Given the description of an element on the screen output the (x, y) to click on. 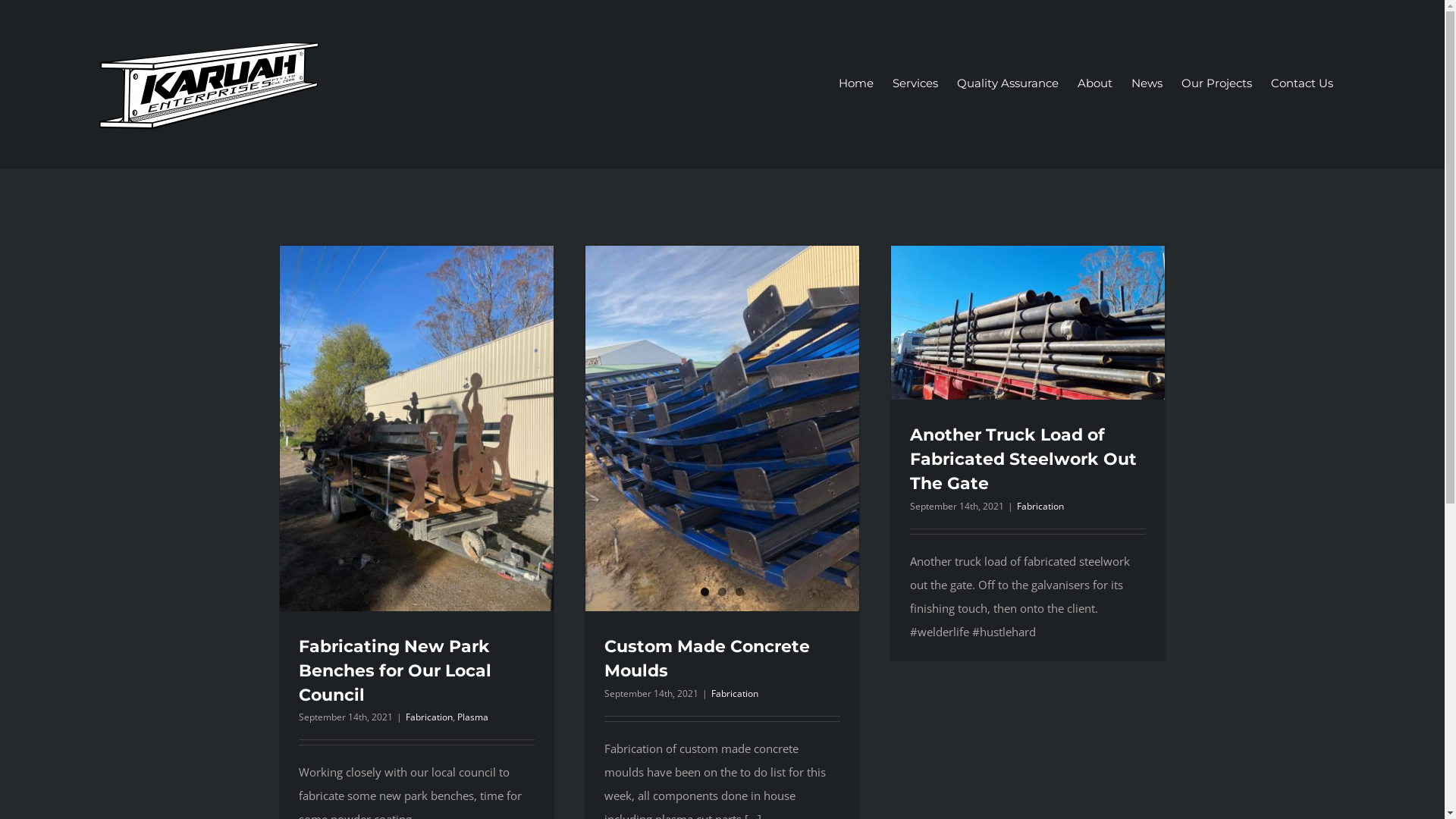
Another Truck Load of Fabricated Steelwork Out The Gate Element type: text (1023, 458)
Fabrication Element type: text (1039, 505)
Home Element type: text (855, 82)
Our Projects Element type: text (1216, 82)
News Element type: text (1146, 82)
About Element type: text (1094, 82)
1 Element type: text (704, 591)
Quality Assurance Element type: text (1007, 82)
Fabrication Element type: text (734, 693)
3 Element type: text (739, 591)
Custom Made Concrete Moulds Element type: text (706, 658)
2 Element type: text (722, 591)
Services Element type: text (915, 82)
Contact Us Element type: text (1301, 82)
Fabrication Element type: text (427, 716)
Plasma Element type: text (471, 716)
Fabricating New Park Benches for Our Local Council Element type: text (394, 670)
